Given the description of an element on the screen output the (x, y) to click on. 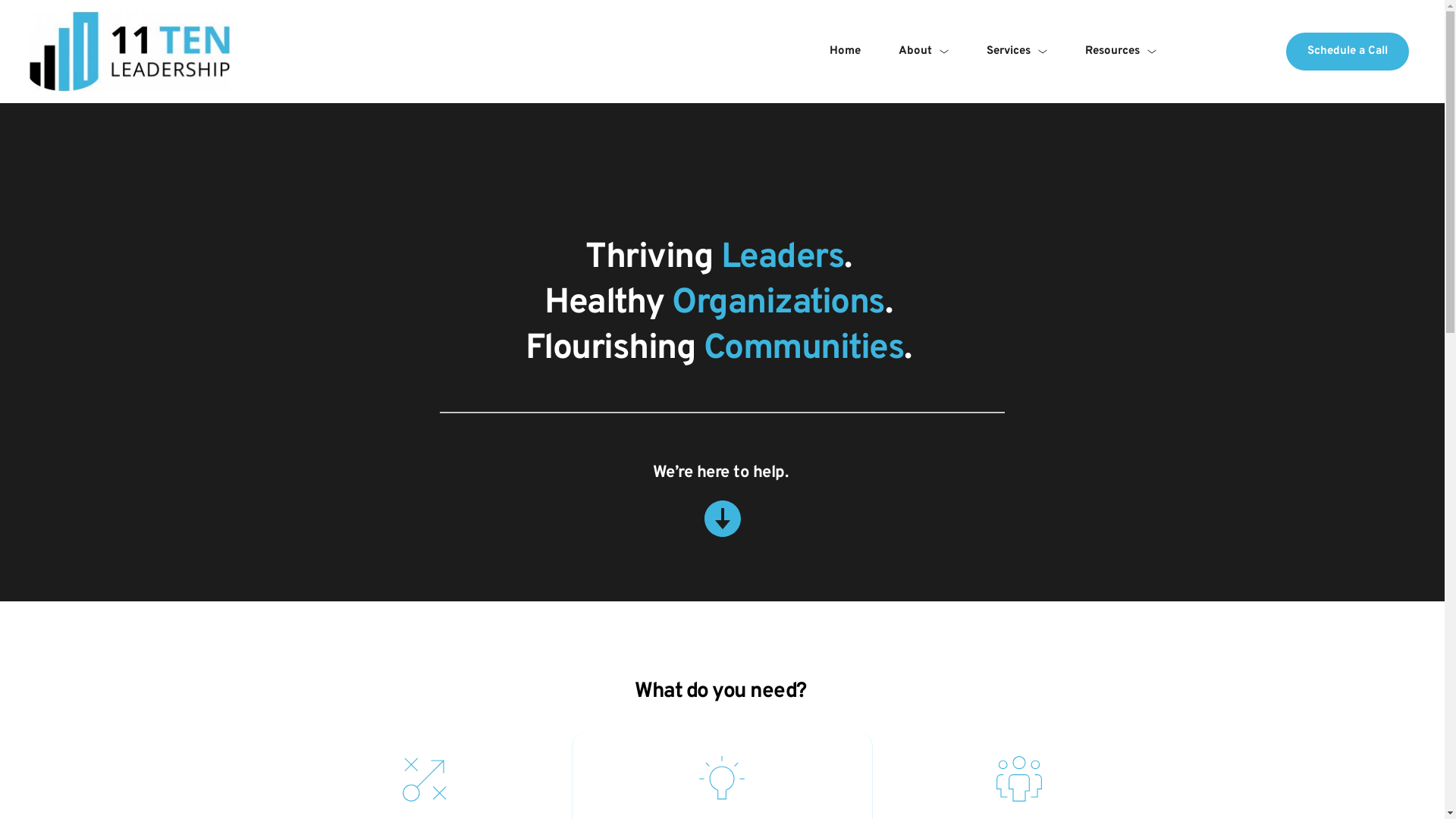
Schedule a Call Element type: text (1347, 51)
Home Element type: text (844, 51)
Resources Element type: text (1120, 51)
About Element type: text (923, 51)
Services Element type: text (1016, 51)
